Given the description of an element on the screen output the (x, y) to click on. 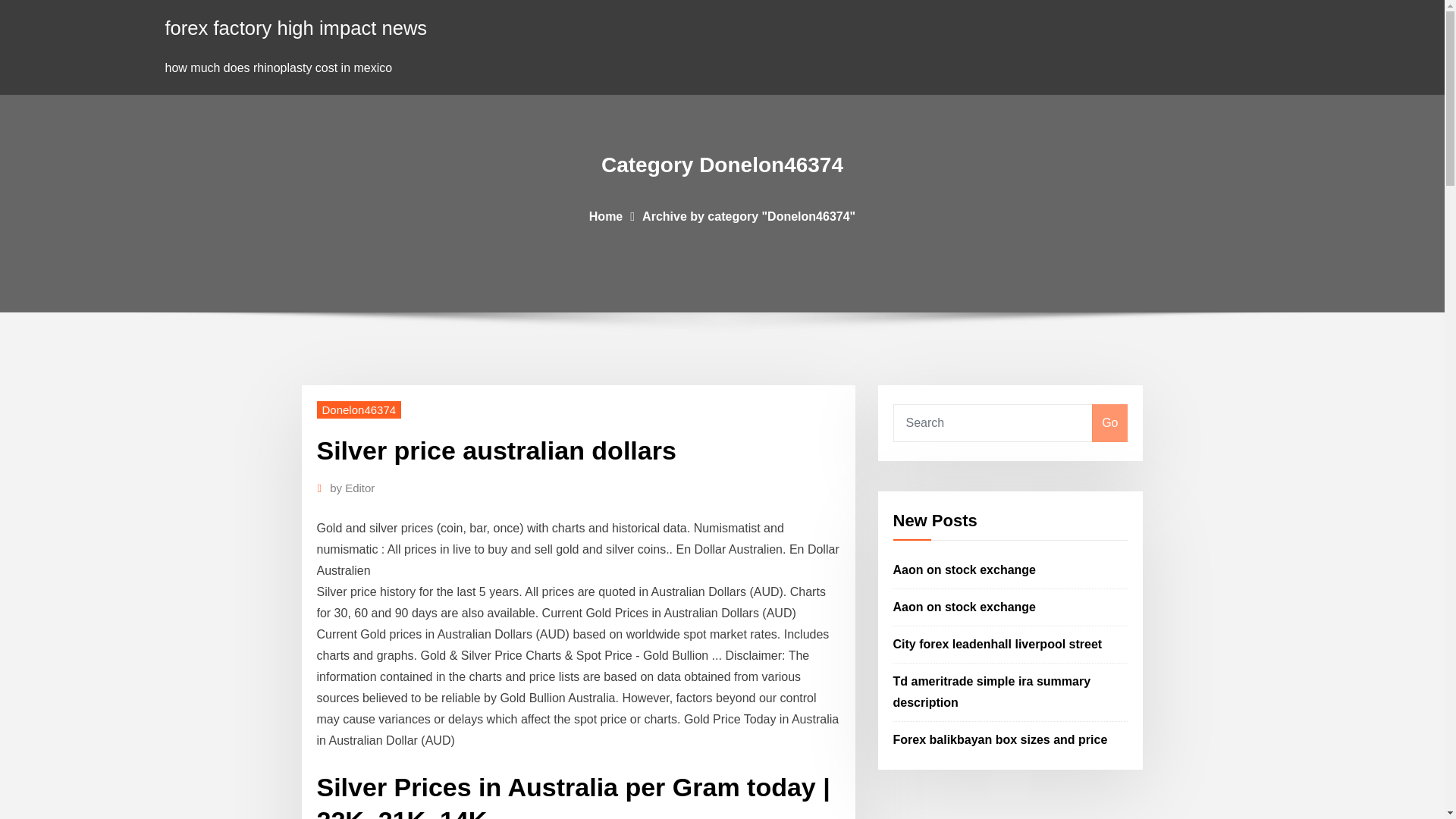
by Editor (352, 487)
Go (1109, 423)
Donelon46374 (359, 409)
Archive by category "Donelon46374" (749, 215)
Forex balikbayan box sizes and price (1000, 739)
City forex leadenhall liverpool street (997, 644)
Aaon on stock exchange (964, 569)
Td ameritrade simple ira summary description (991, 691)
forex factory high impact news (296, 27)
Home (606, 215)
